Given the description of an element on the screen output the (x, y) to click on. 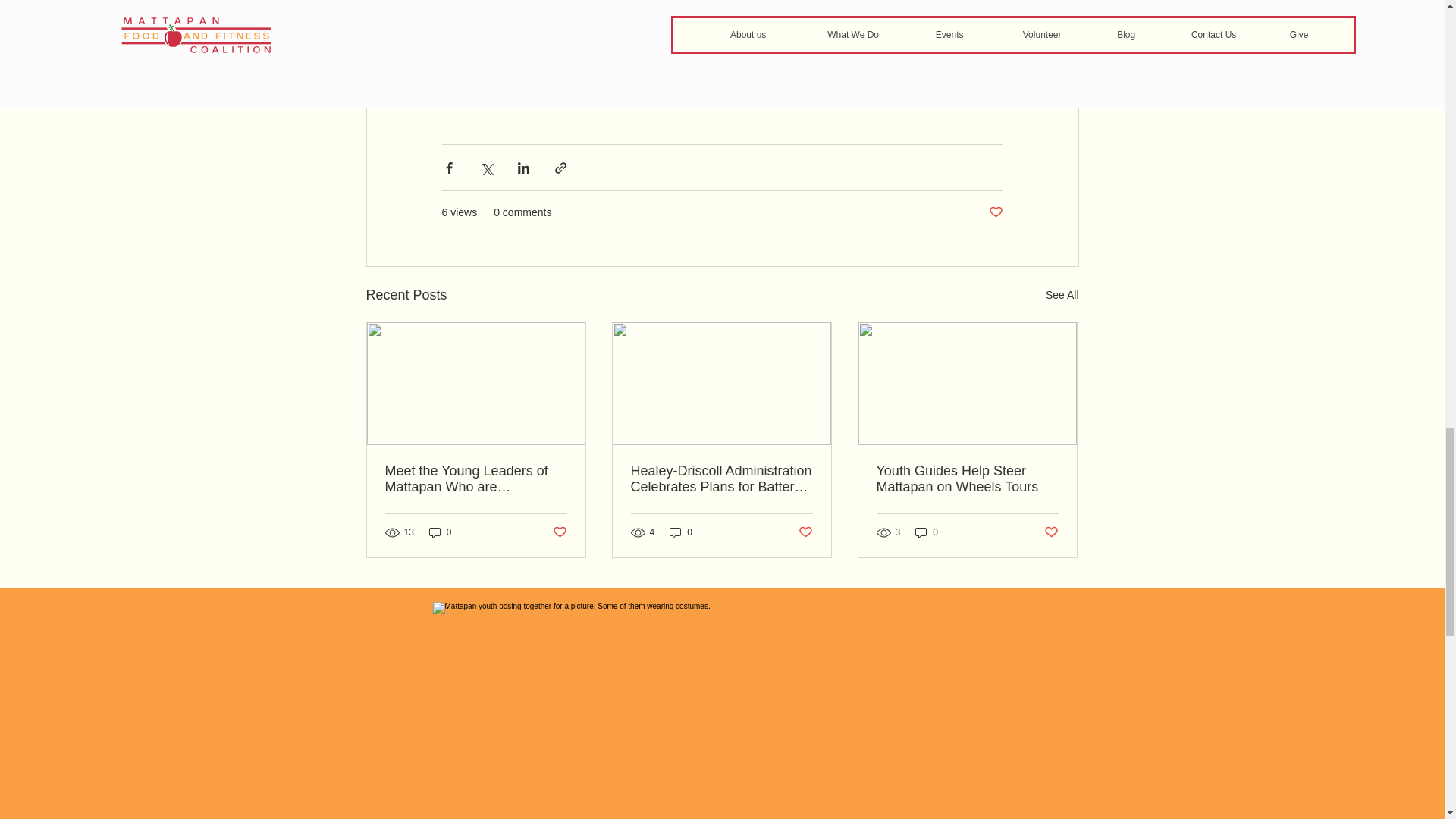
Post not marked as liked (995, 212)
See All (1061, 295)
